Given the description of an element on the screen output the (x, y) to click on. 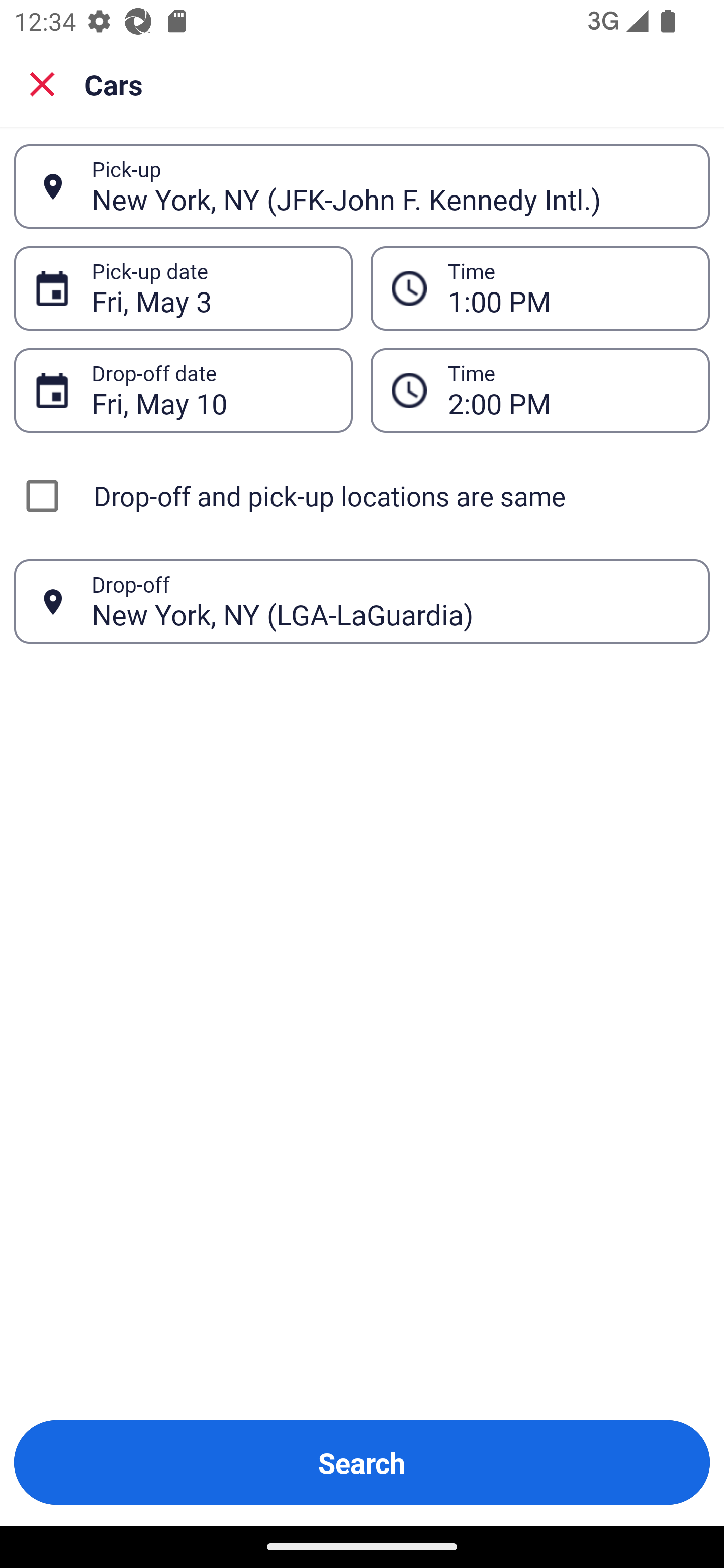
Close search screen (42, 84)
New York, NY (JFK-John F. Kennedy Intl.) (389, 186)
Fri, May 3 (211, 288)
1:00 PM (568, 288)
Fri, May 10 (211, 390)
2:00 PM (568, 390)
Drop-off and pick-up locations are same (361, 495)
New York, NY (LGA-LaGuardia) (389, 601)
Search Button Search (361, 1462)
